Given the description of an element on the screen output the (x, y) to click on. 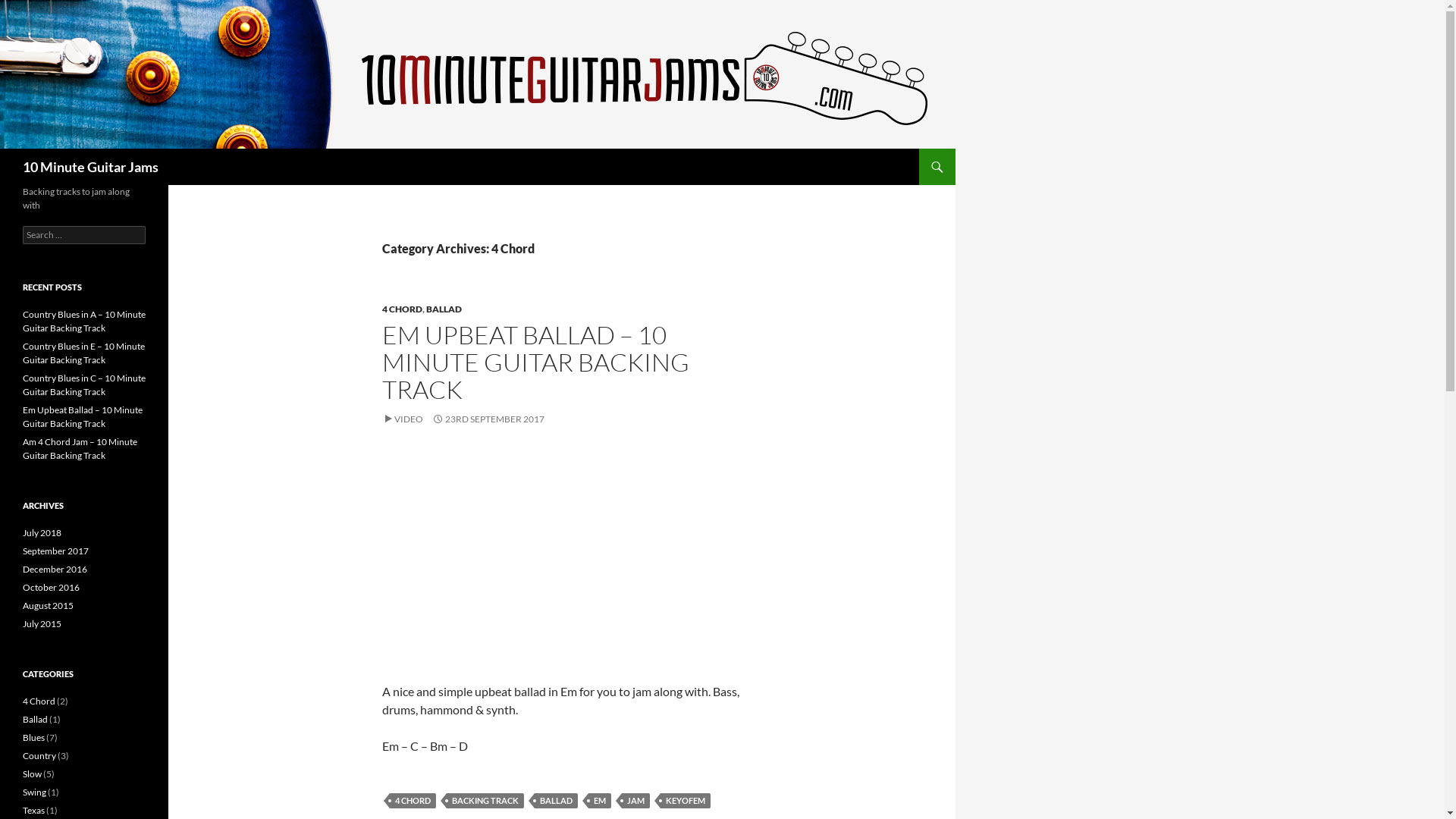
BACKING TRACK Element type: text (485, 800)
Search Element type: text (3, 147)
BALLAD Element type: text (555, 800)
Slow Element type: text (31, 773)
July 2015 Element type: text (41, 623)
EM Element type: text (599, 800)
Texas Element type: text (33, 809)
4 Chord Element type: text (38, 700)
October 2016 Element type: text (50, 587)
VIDEO Element type: text (402, 418)
Swing Element type: text (34, 791)
July 2018 Element type: text (41, 532)
September 2017 Element type: text (55, 550)
4 CHORD Element type: text (412, 800)
KEYOFEM Element type: text (685, 800)
Country Element type: text (39, 755)
4 CHORD Element type: text (402, 308)
JAM Element type: text (635, 800)
BALLAD Element type: text (443, 308)
December 2016 Element type: text (54, 568)
SKIP TO CONTENT Element type: text (926, 147)
Search Element type: text (29, 9)
Ballad Element type: text (34, 718)
10 Minute Guitar Jams Element type: text (90, 166)
Blues Element type: text (33, 737)
August 2015 Element type: text (47, 605)
23RD SEPTEMBER 2017 Element type: text (488, 418)
